Given the description of an element on the screen output the (x, y) to click on. 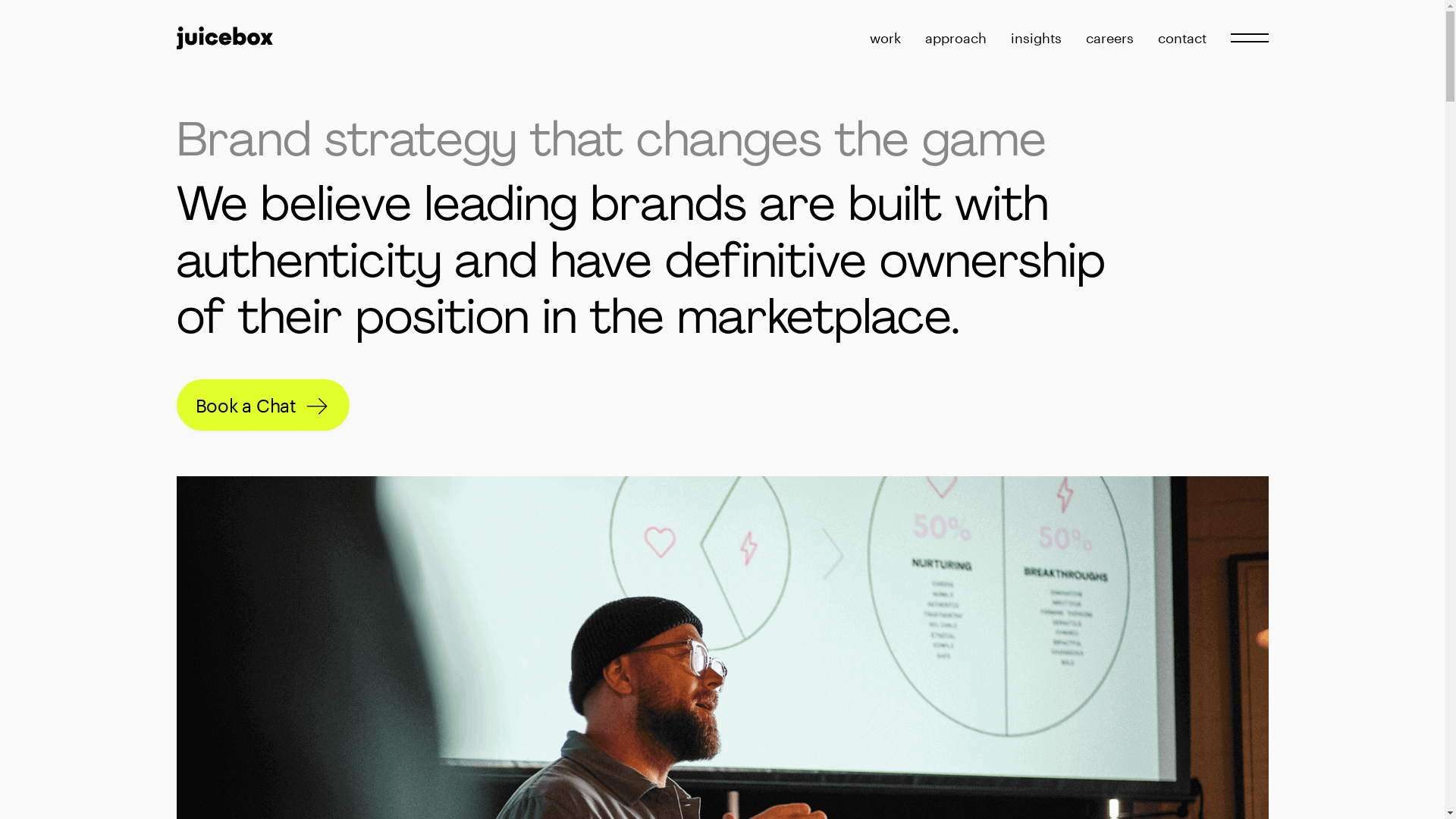
approach Element type: text (955, 37)
contact Element type: text (1181, 37)
insights Element type: text (1035, 37)
careers Element type: text (1109, 37)
Book a Chat Element type: text (261, 404)
work Element type: text (884, 37)
